Given the description of an element on the screen output the (x, y) to click on. 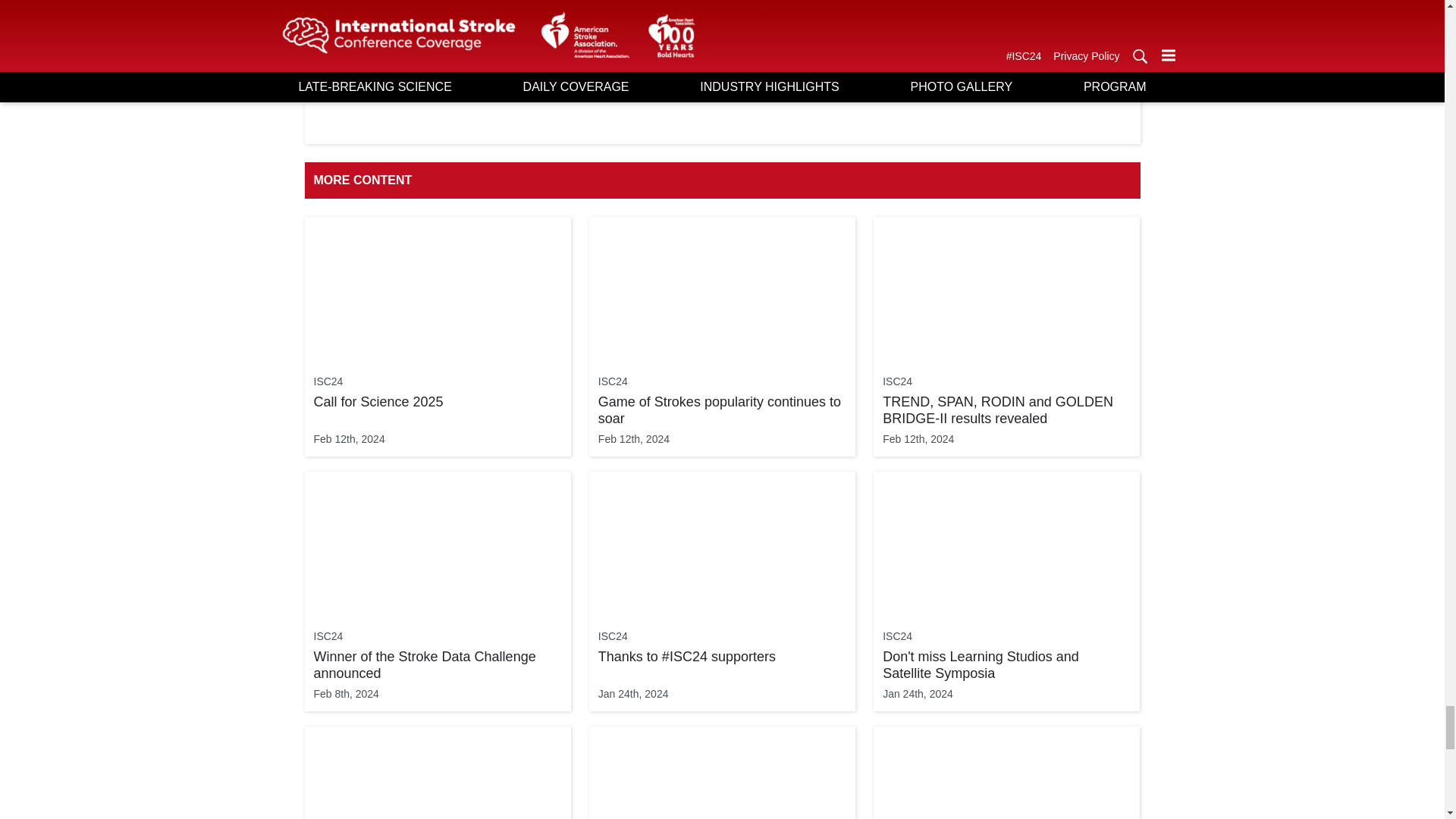
ISC24 (612, 381)
Late-Breaking Science (543, 69)
ISC24 (328, 381)
